Given the description of an element on the screen output the (x, y) to click on. 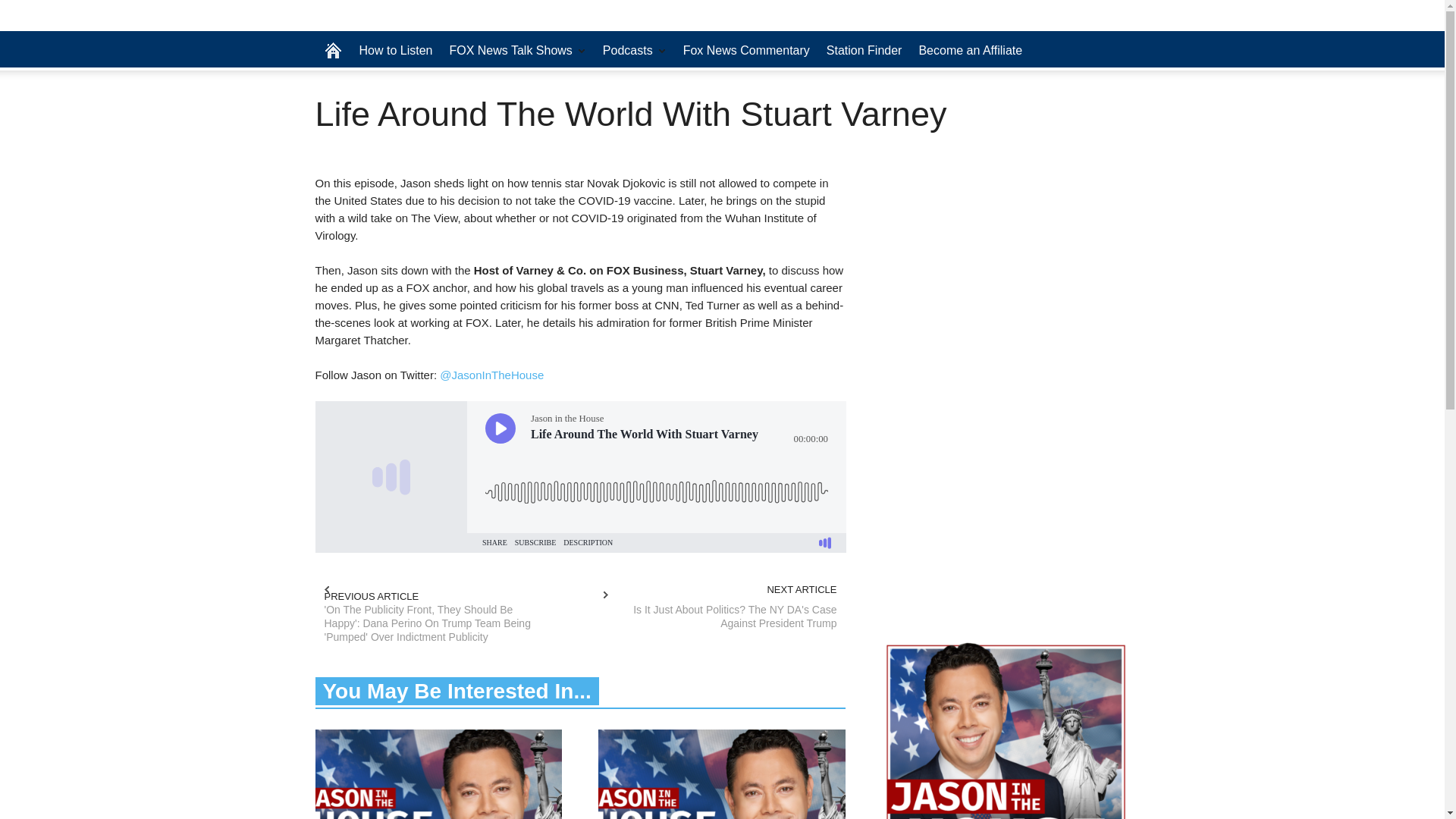
Home Page (332, 50)
Kathie Lee Gifford On The Greatest Story Never Told (438, 774)
